Given the description of an element on the screen output the (x, y) to click on. 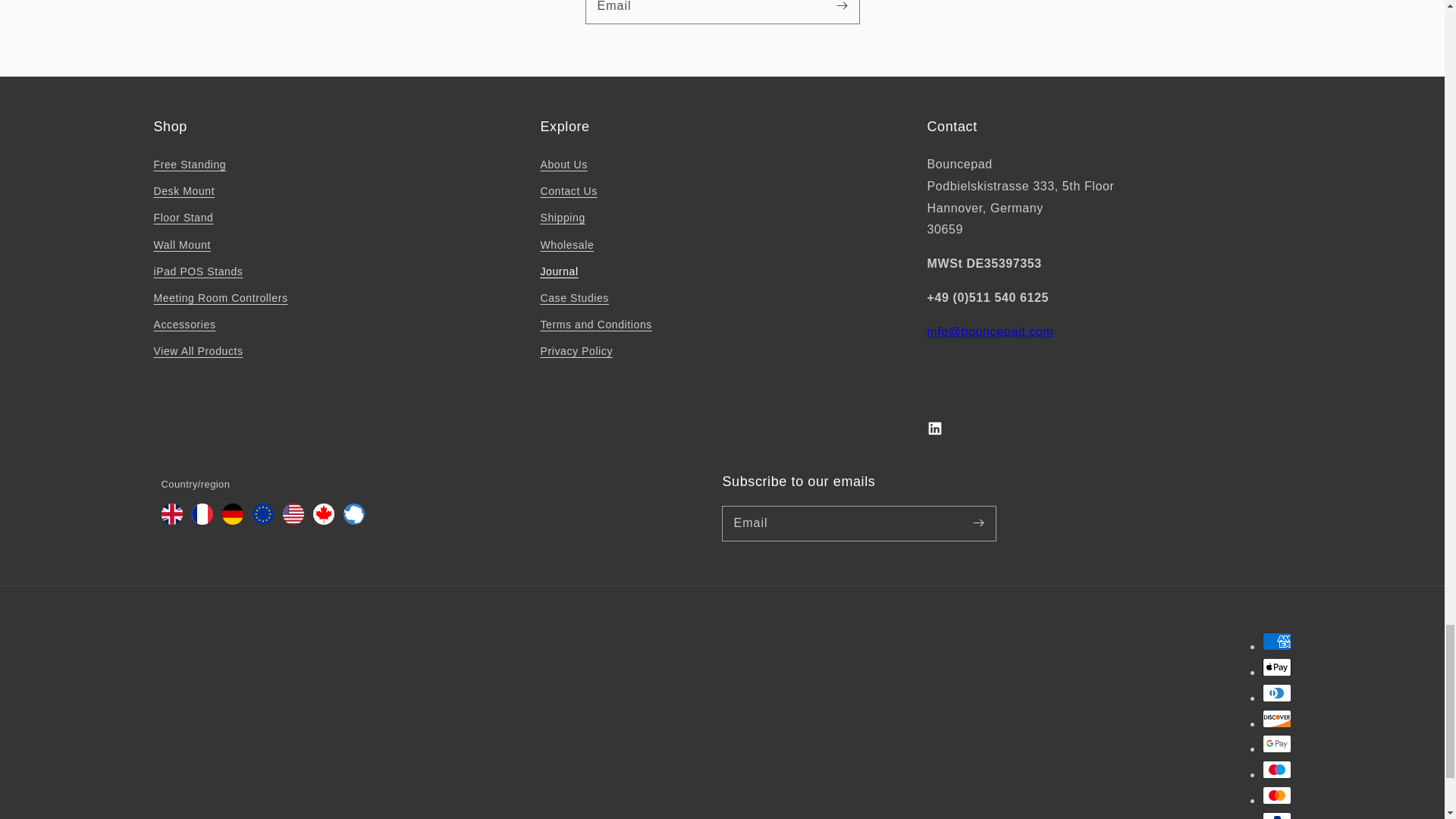
Discover (1276, 719)
Maestro (1276, 769)
 United States (292, 520)
Mastercard (1276, 795)
PayPal (1276, 815)
 Deutschland (232, 520)
American Express (1276, 641)
 Canada (323, 520)
 France (201, 520)
 Rest of world (353, 520)
